Given the description of an element on the screen output the (x, y) to click on. 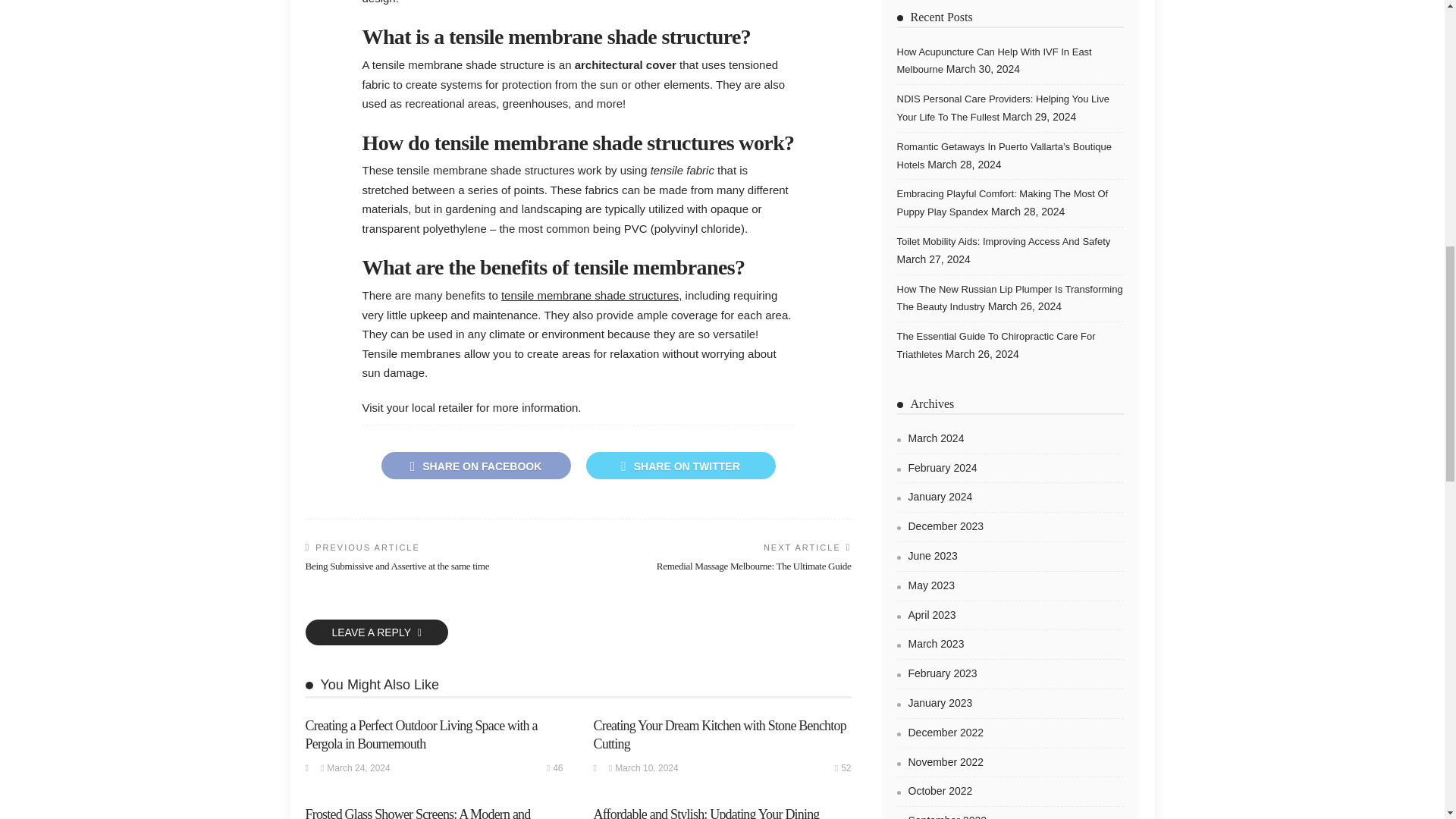
Creating Your Dream Kitchen with Stone Benchtop Cutting (718, 734)
Being Submissive and Assertive at the same time (396, 565)
Remedial Massage Melbourne: The Ultimate Guide (753, 565)
